Given the description of an element on the screen output the (x, y) to click on. 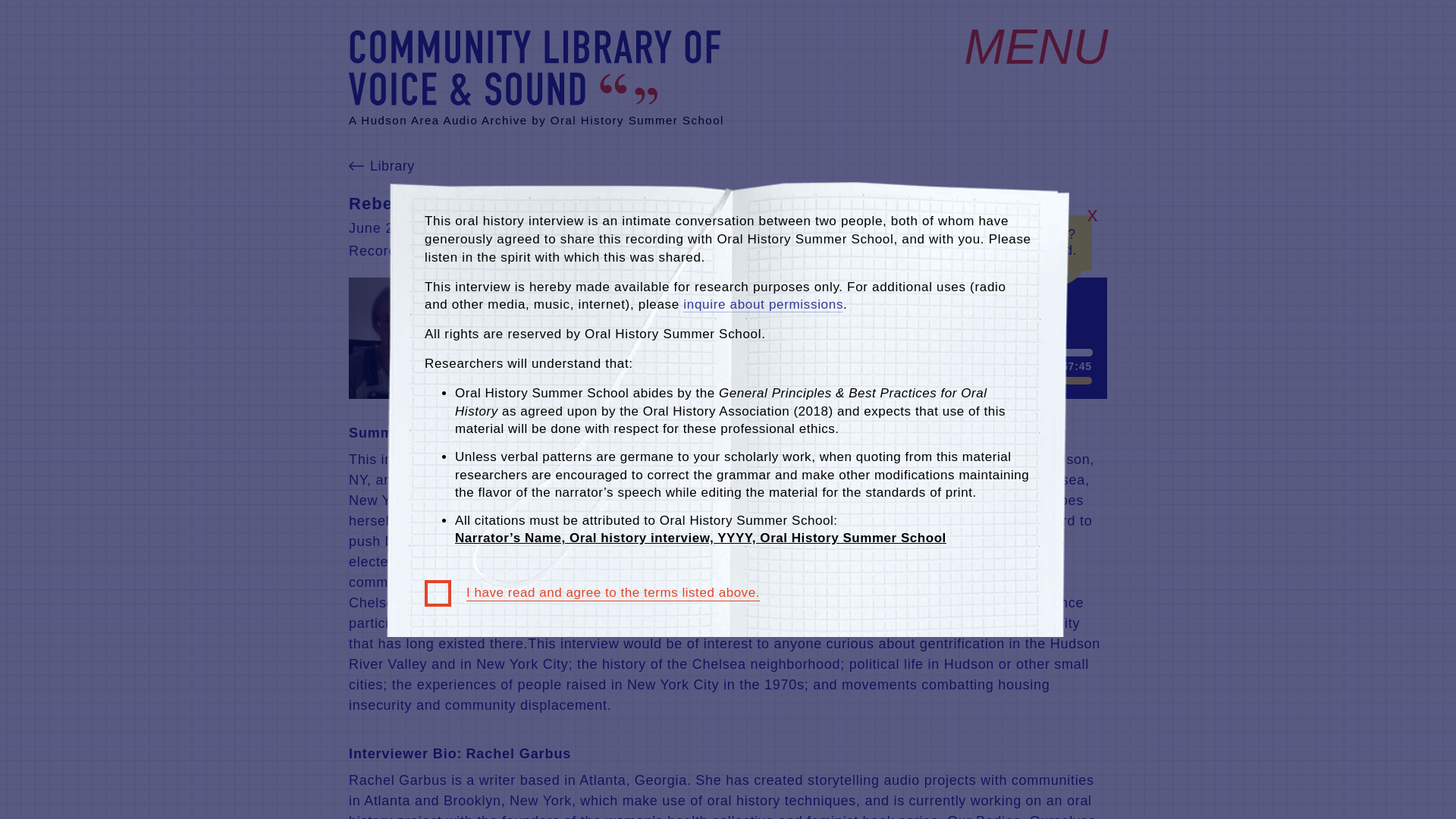
0 (776, 352)
inquire about permissions (762, 304)
MENU (1034, 46)
x (1091, 214)
Mute (1021, 380)
Click here (966, 250)
Play (485, 314)
I have read and agree to the terms listed above. (592, 592)
1 (1065, 380)
Library (381, 166)
